Given the description of an element on the screen output the (x, y) to click on. 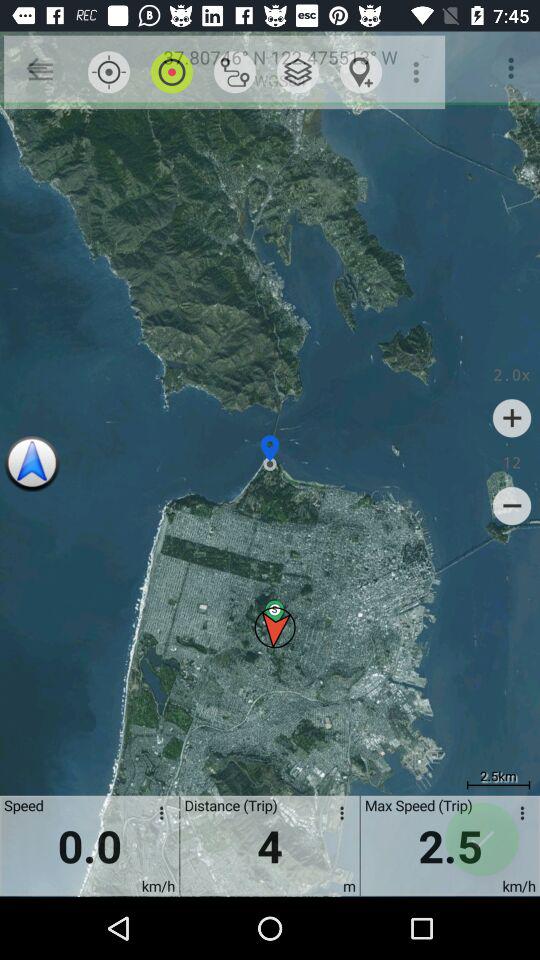
click icon above distance (trip) icon (234, 71)
